Given the description of an element on the screen output the (x, y) to click on. 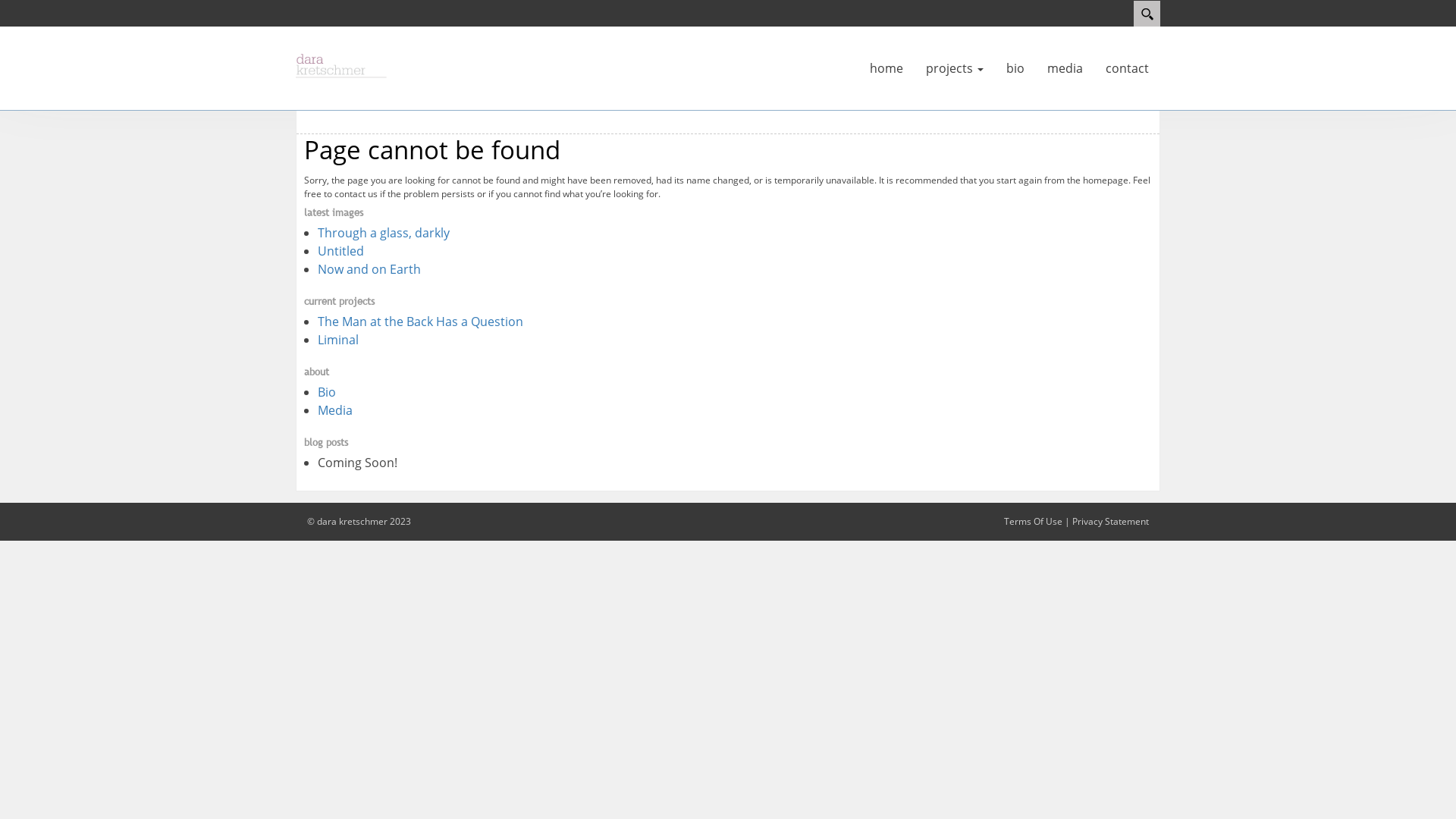
Terms Of Use Element type: text (1033, 520)
Privacy Statement Element type: text (1110, 520)
Media Element type: text (334, 409)
Liminal Element type: text (337, 339)
contact Element type: text (1127, 68)
The Man at the Back Has a Question Element type: text (420, 321)
projects Element type: text (954, 68)
Untitled Element type: text (340, 250)
Search Element type: text (1146, 13)
Now and on Earth Element type: text (368, 268)
Through a glass, darkly Element type: text (383, 232)
Dara Kretschmer Element type: hover (340, 64)
home Element type: text (886, 68)
media Element type: text (1064, 68)
bio Element type: text (1014, 68)
Bio Element type: text (326, 391)
